Given the description of an element on the screen output the (x, y) to click on. 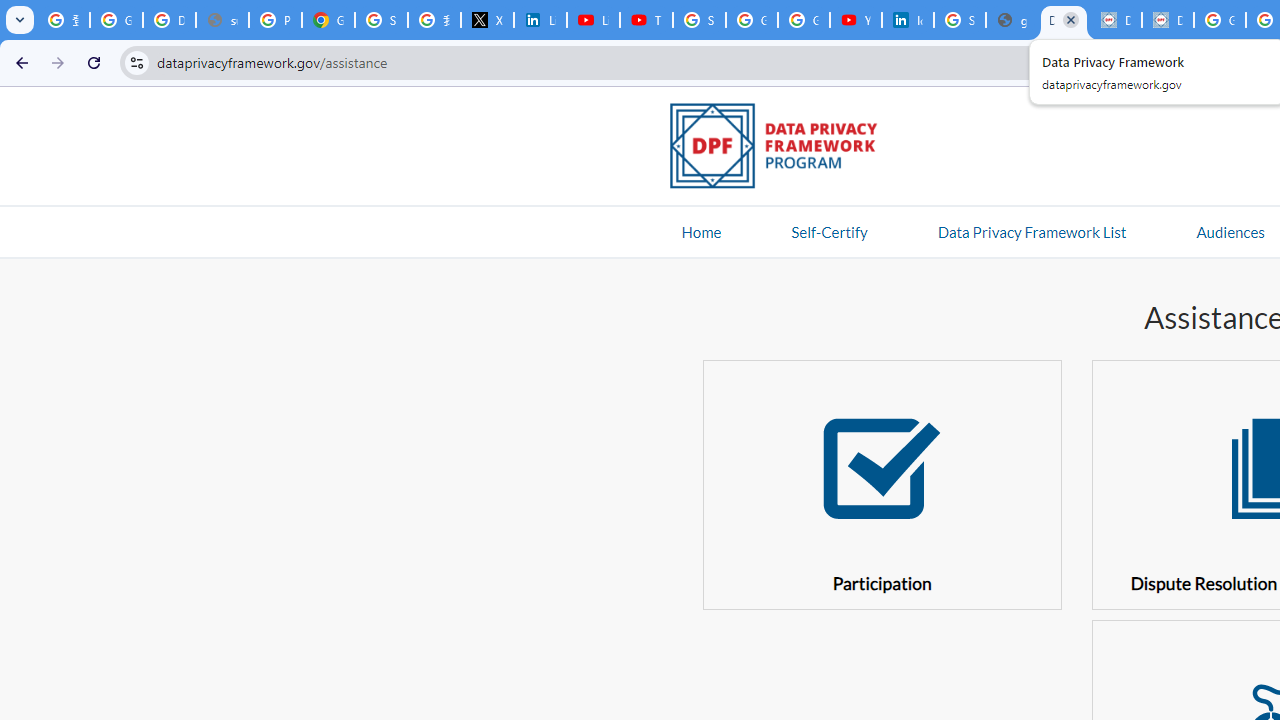
google_privacy_policy_en.pdf (1011, 20)
Data Privacy Framework (1115, 20)
LinkedIn Privacy Policy (540, 20)
Data Privacy Framework (1064, 20)
X (487, 20)
